Given the description of an element on the screen output the (x, y) to click on. 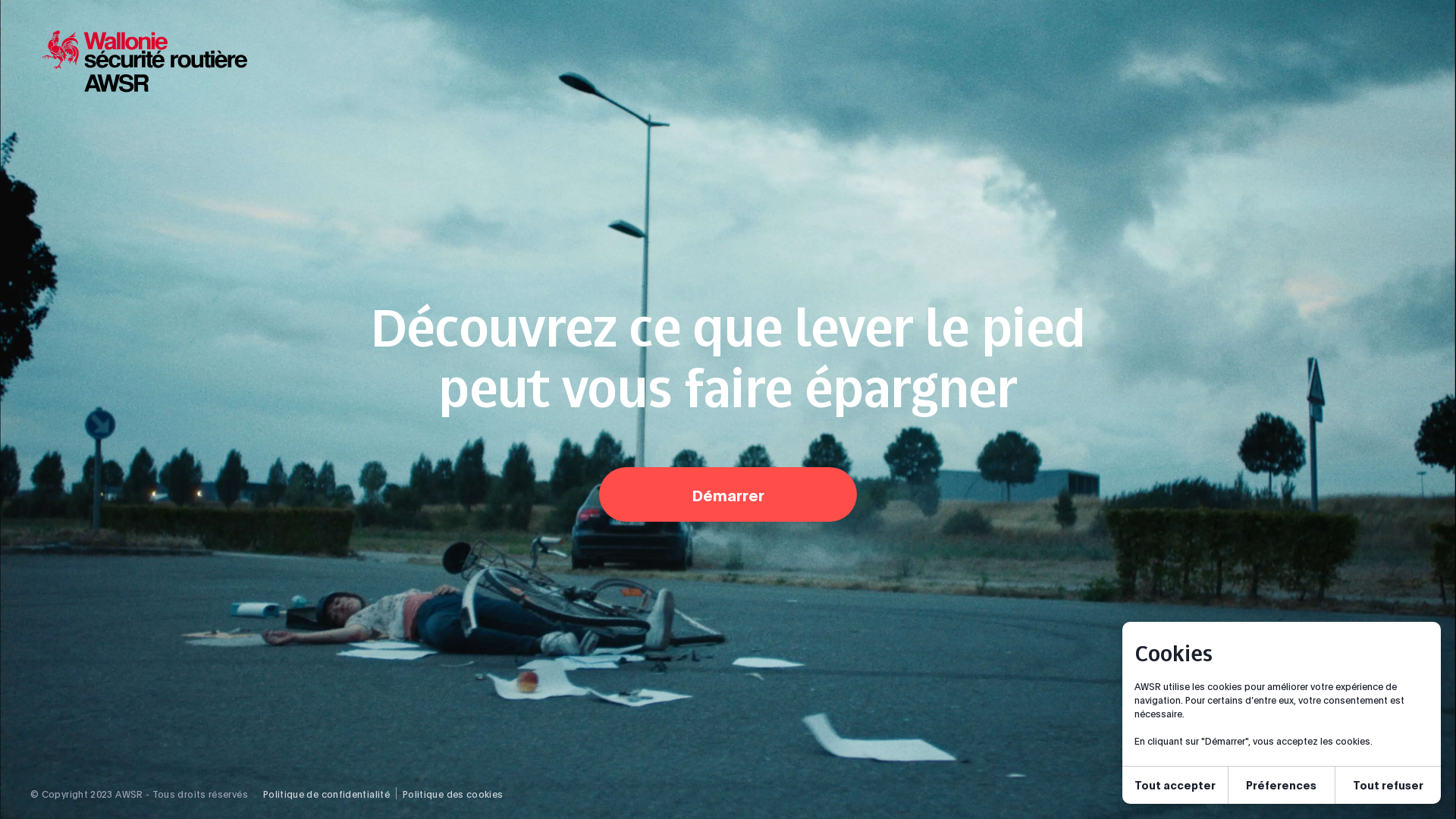
Politique des cookies Element type: text (452, 793)
Tout accepter Element type: text (1174, 784)
Tout refuser Element type: text (1387, 784)
